Given the description of an element on the screen output the (x, y) to click on. 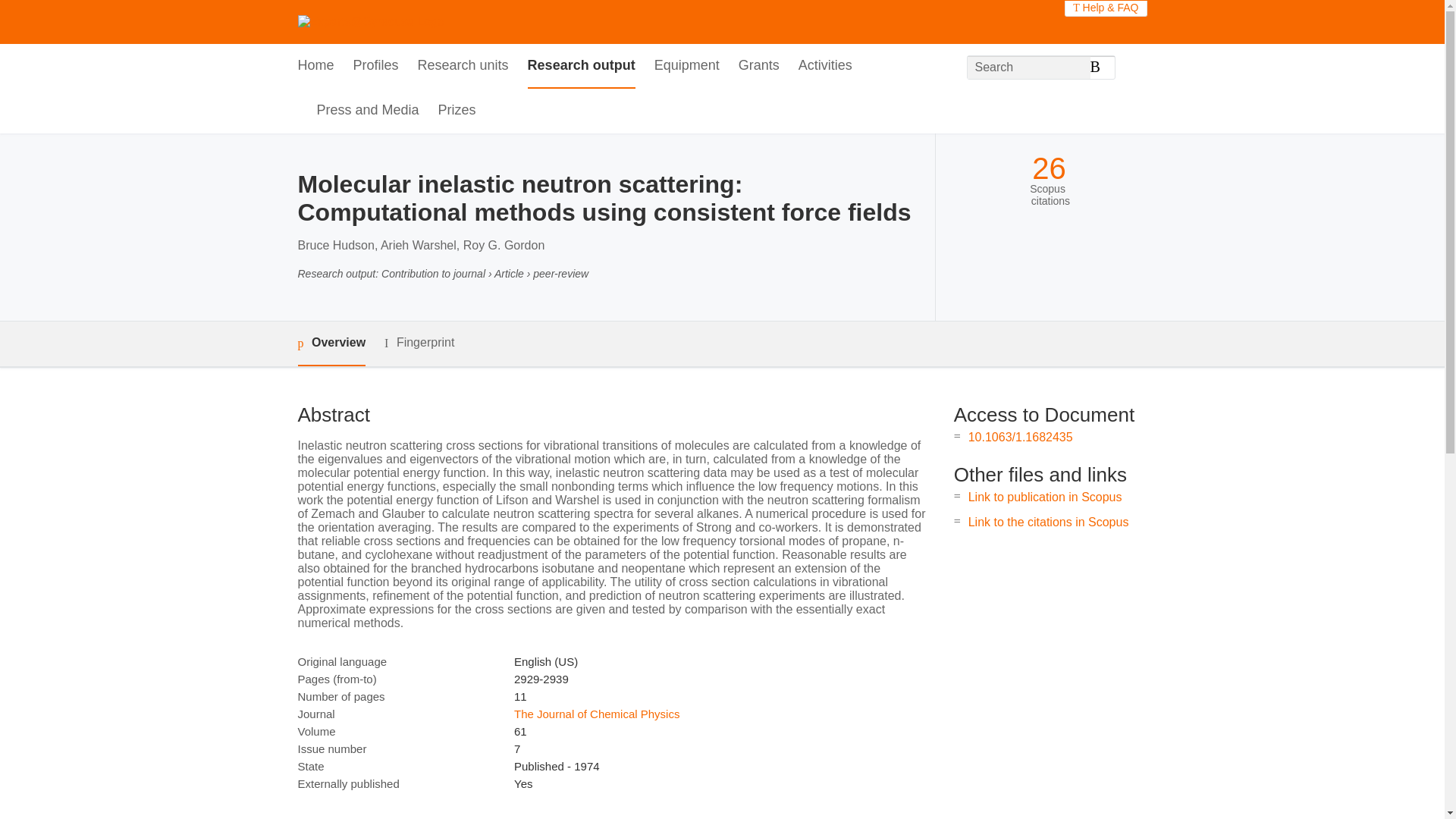
Link to publication in Scopus (1045, 496)
Activities (824, 66)
Overview (331, 343)
Profiles (375, 66)
The Journal of Chemical Physics (596, 713)
Equipment (686, 66)
Link to the citations in Scopus (1048, 521)
Fingerprint (419, 342)
Press and Media (368, 110)
Research output (580, 66)
Grants (758, 66)
26 (1048, 168)
Research units (462, 66)
